Given the description of an element on the screen output the (x, y) to click on. 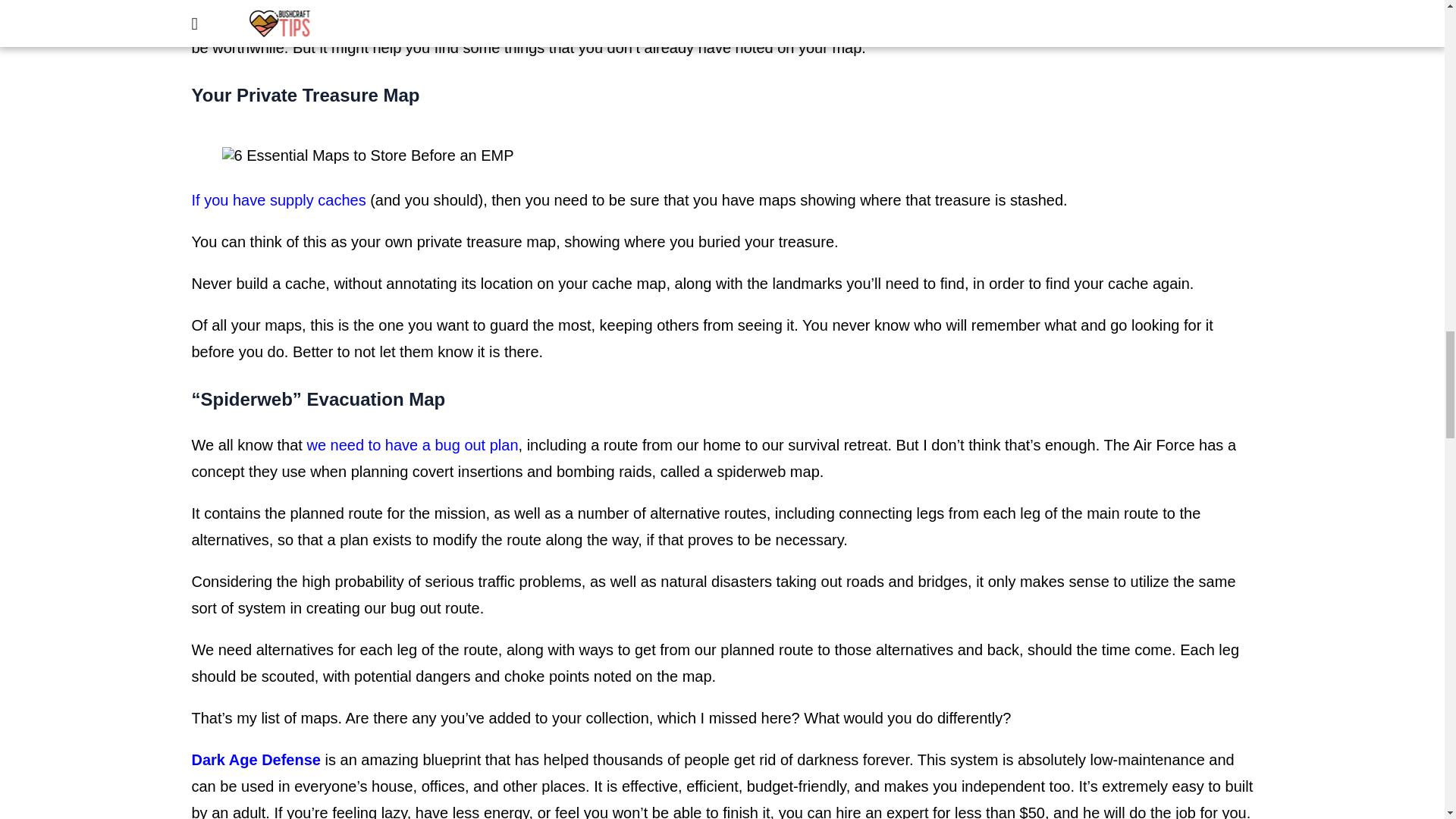
we need to have a bug out plan (411, 444)
If you have supply caches (277, 199)
Dark Age Defense (255, 759)
